Given the description of an element on the screen output the (x, y) to click on. 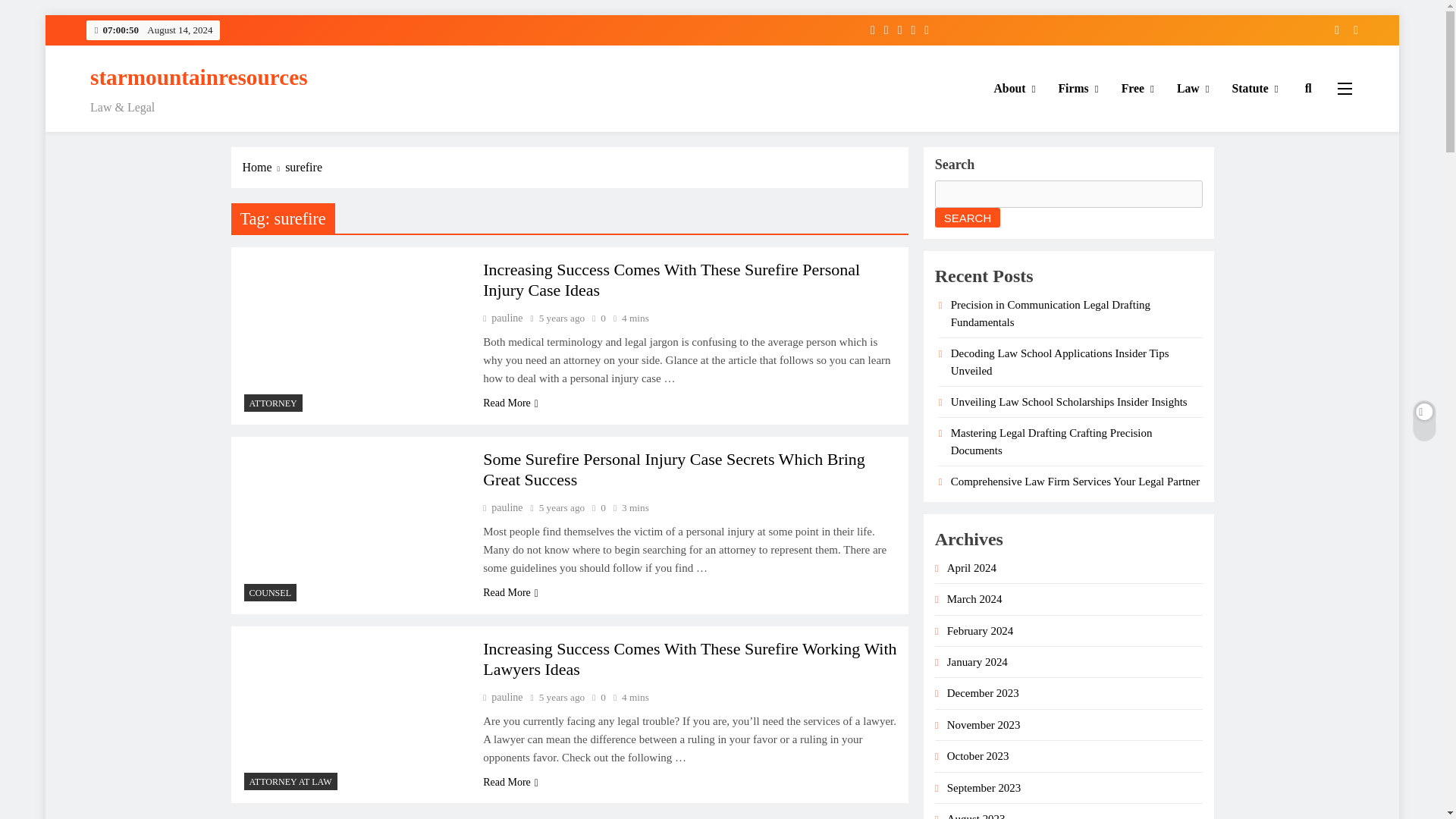
Law (1193, 88)
About (1014, 88)
starmountainresources (198, 77)
Free (1137, 88)
Firms (1077, 88)
Statute (1255, 88)
